Given the description of an element on the screen output the (x, y) to click on. 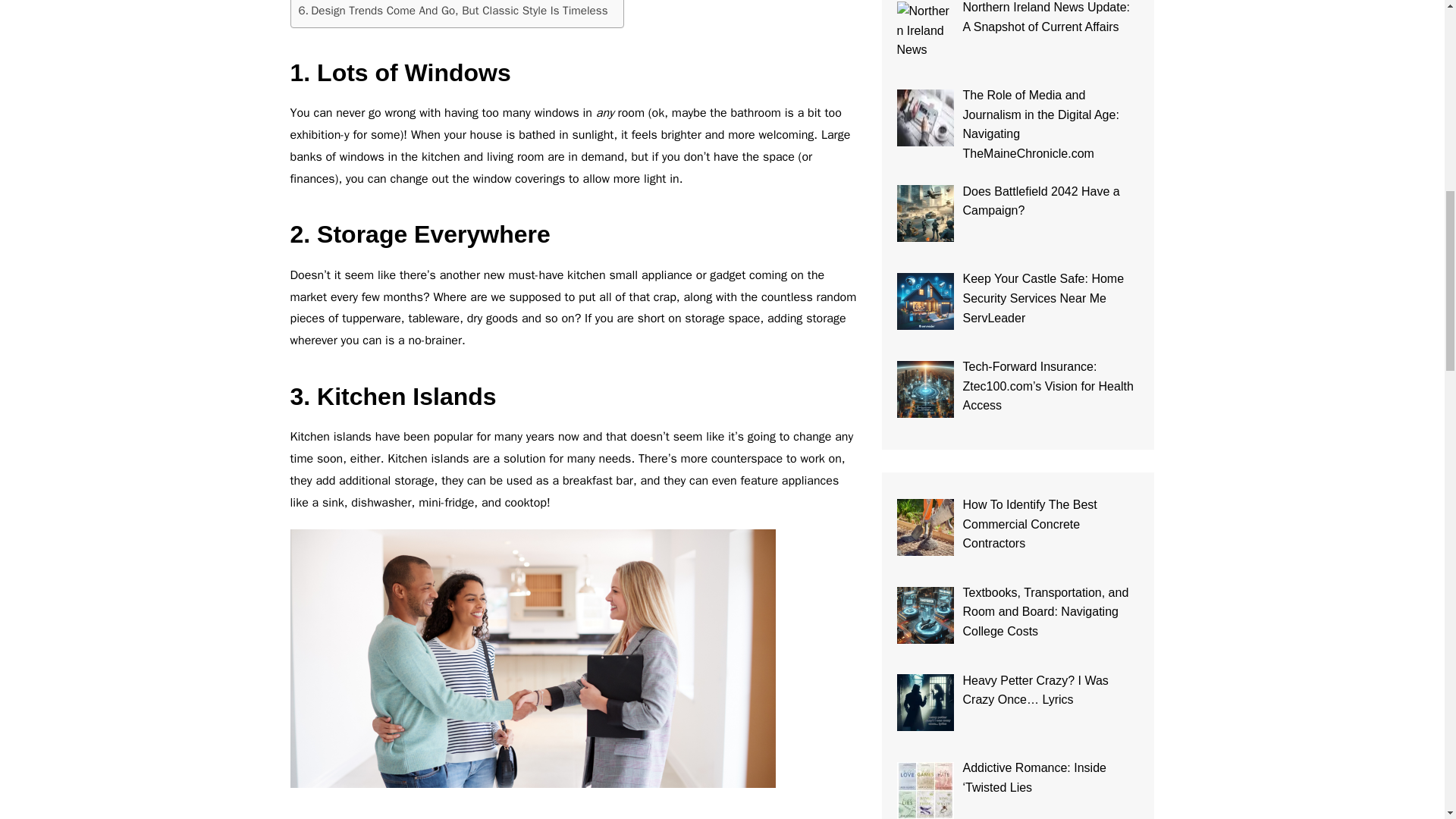
Design Trends Come And Go, But Classic Style Is Timeless (453, 10)
Northern Ireland News Update: A Snapshot of Current Affairs (924, 29)
